Given the description of an element on the screen output the (x, y) to click on. 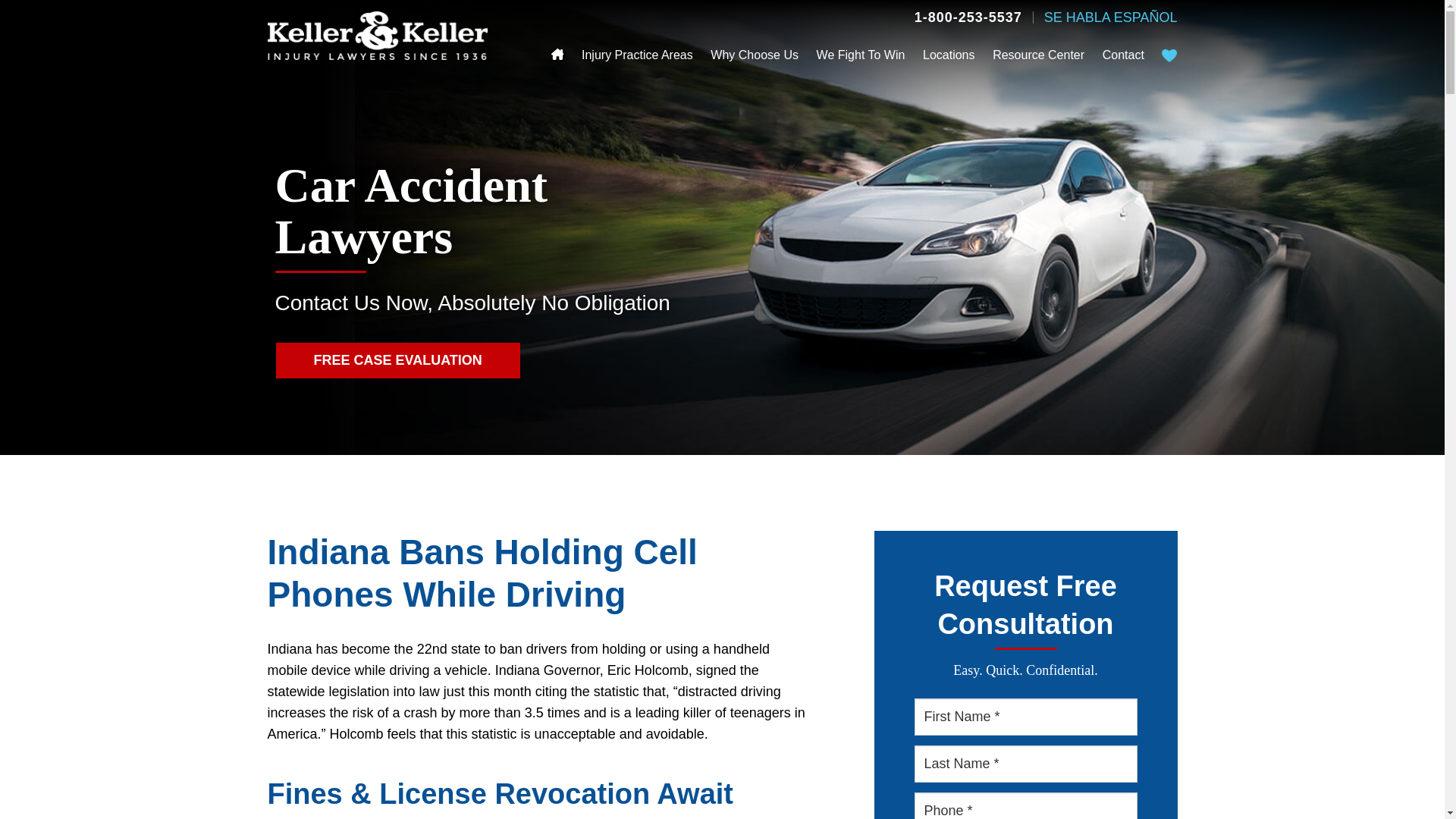
1-800-253-5537 (968, 17)
We Fight To Win (860, 55)
Injury Practice Areas (636, 55)
Locations (949, 55)
Why Choose Us (753, 55)
